Given the description of an element on the screen output the (x, y) to click on. 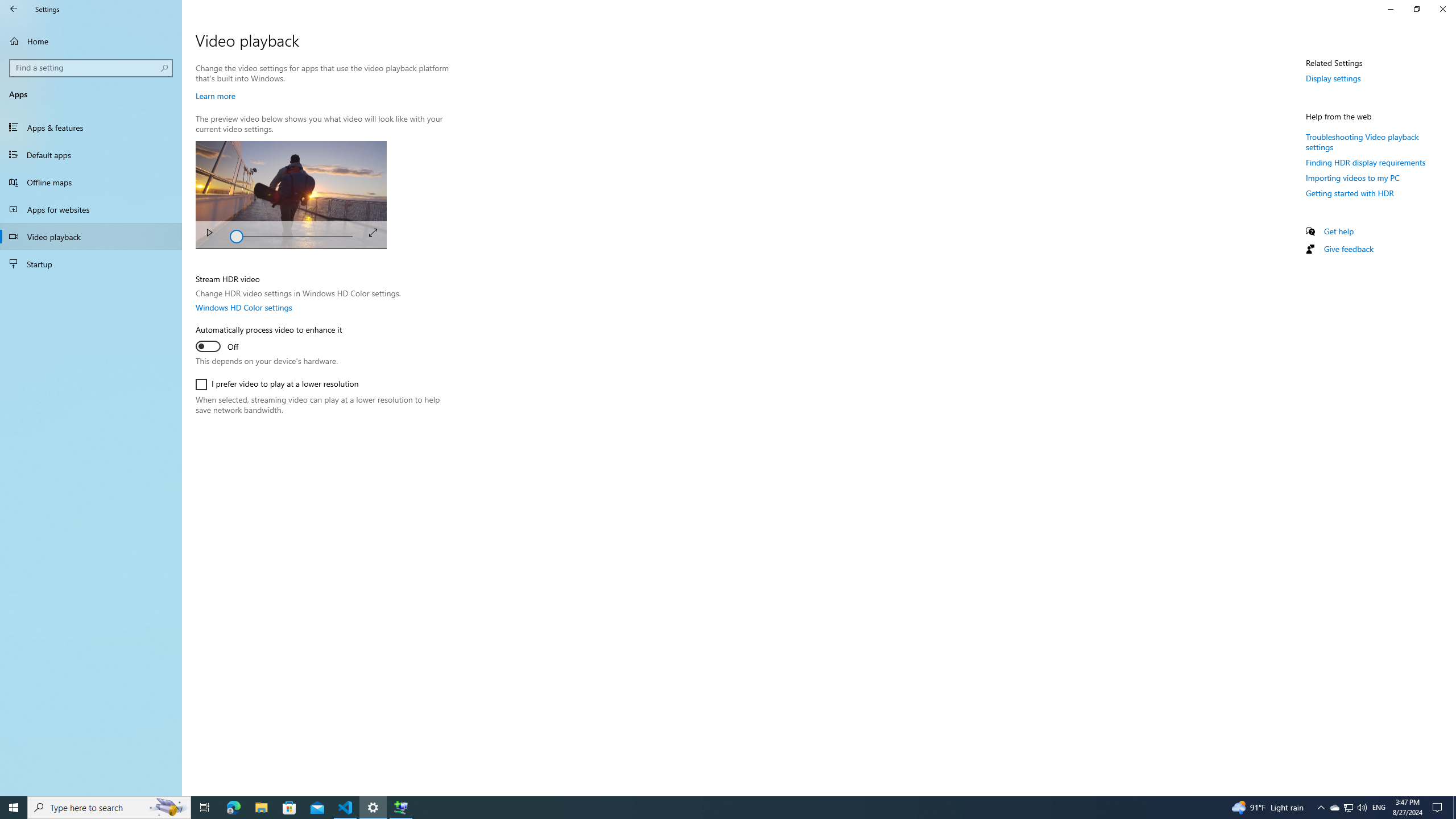
I prefer video to play at a lower resolution (276, 384)
Full Screen (373, 232)
Getting started with HDR (1349, 192)
Apps for websites (91, 208)
Give feedback (1348, 248)
Extensible Wizards Host Process - 1 running window (400, 807)
Finding HDR display requirements (1365, 162)
Troubleshooting Video playback settings (1362, 141)
